Given the description of an element on the screen output the (x, y) to click on. 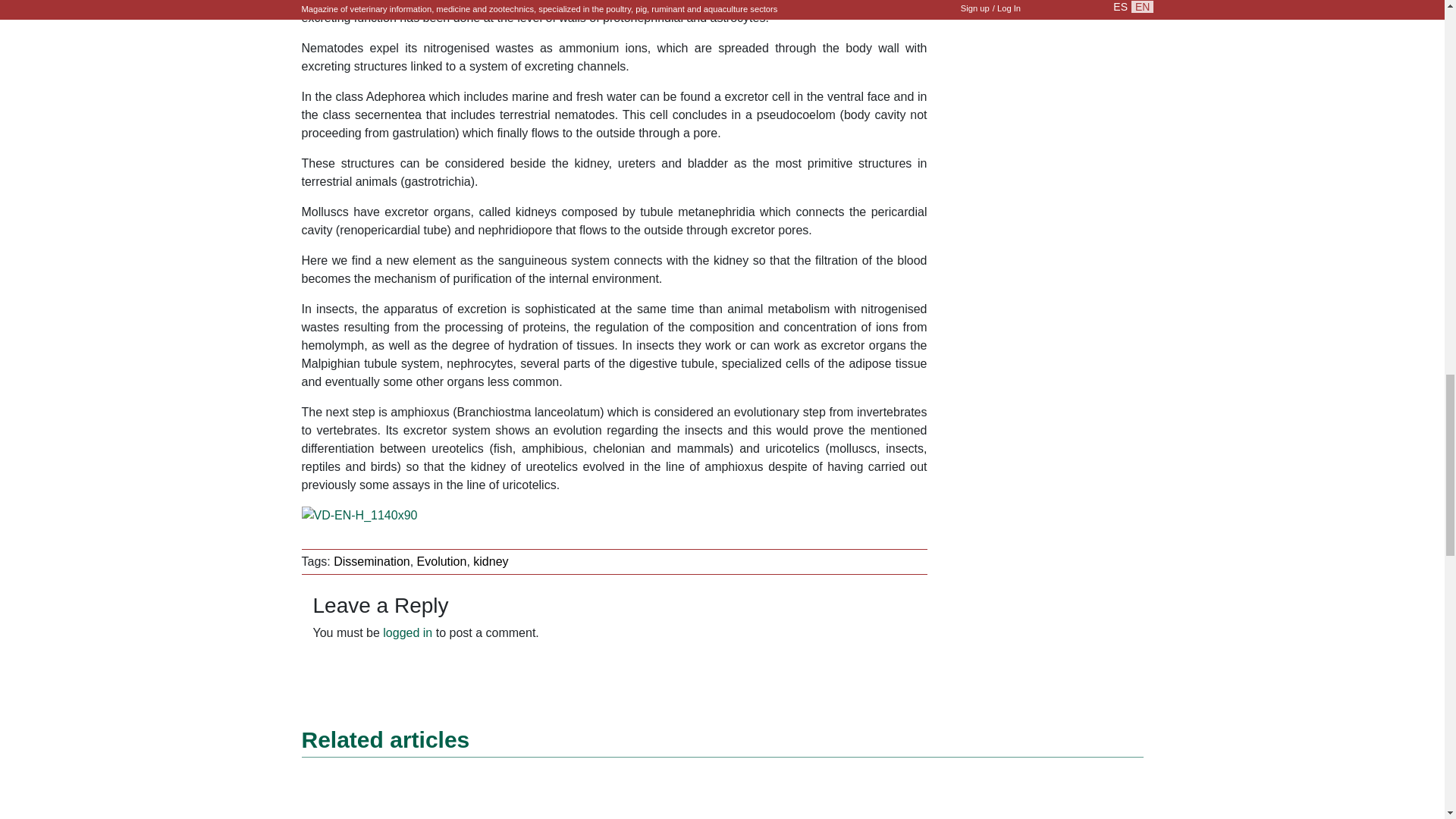
Dissemination (371, 561)
Evolution (441, 561)
kidney (490, 561)
